Given the description of an element on the screen output the (x, y) to click on. 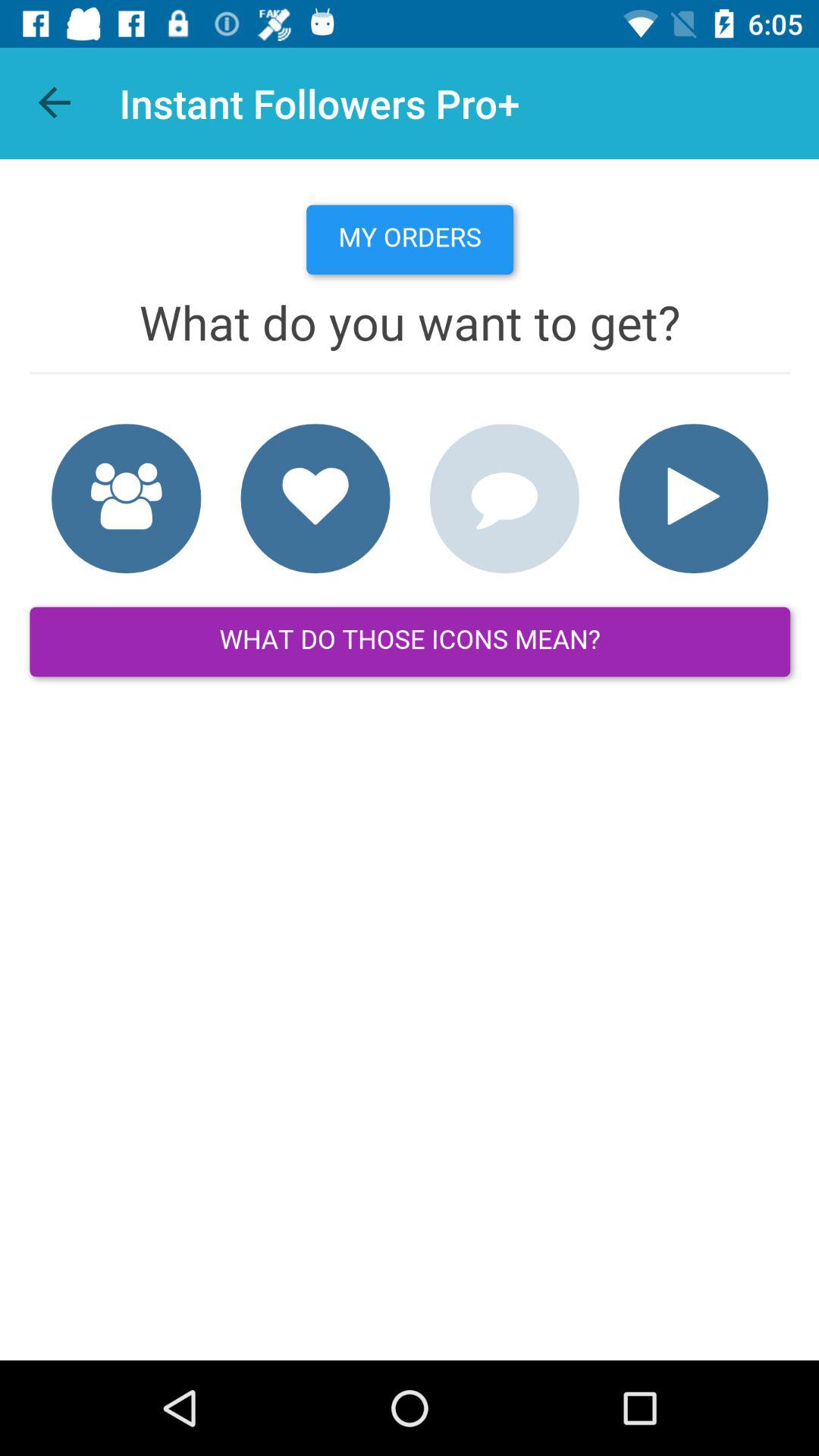
go back (55, 103)
